Given the description of an element on the screen output the (x, y) to click on. 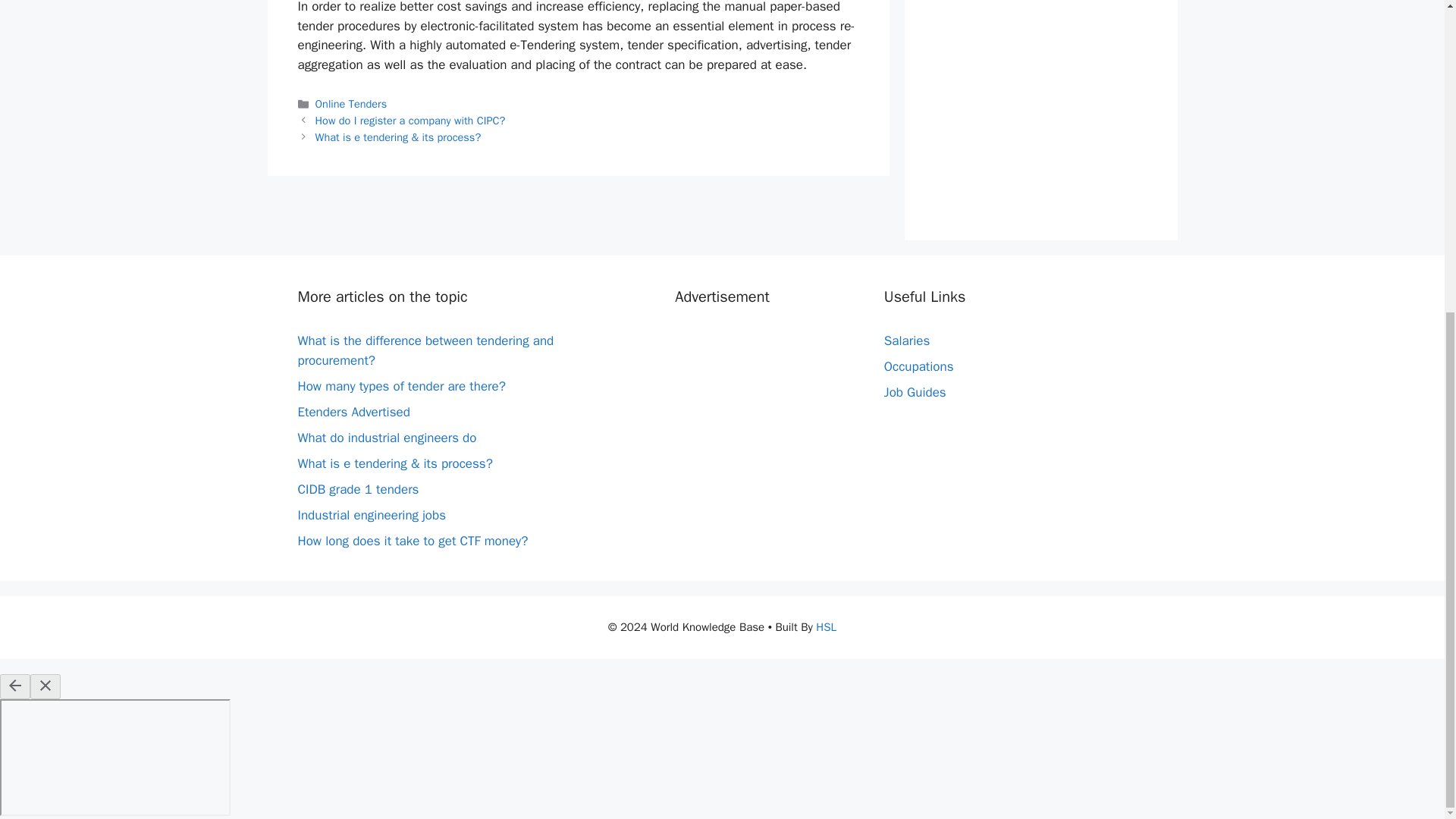
Industrial engineering jobs (371, 514)
Advertisement (1040, 104)
How many types of tender are there? (401, 385)
How do I register a company with CIPC? (410, 120)
What is the difference between tendering and procurement? (425, 350)
What do industrial engineers do (386, 437)
HSL (825, 626)
Online Tenders (351, 103)
CIDB grade 1 tenders (358, 488)
Etenders Advertised (353, 411)
Occupations (918, 366)
How long does it take to get CTF money? (412, 539)
Salaries (906, 340)
Job Guides (914, 392)
